Given the description of an element on the screen output the (x, y) to click on. 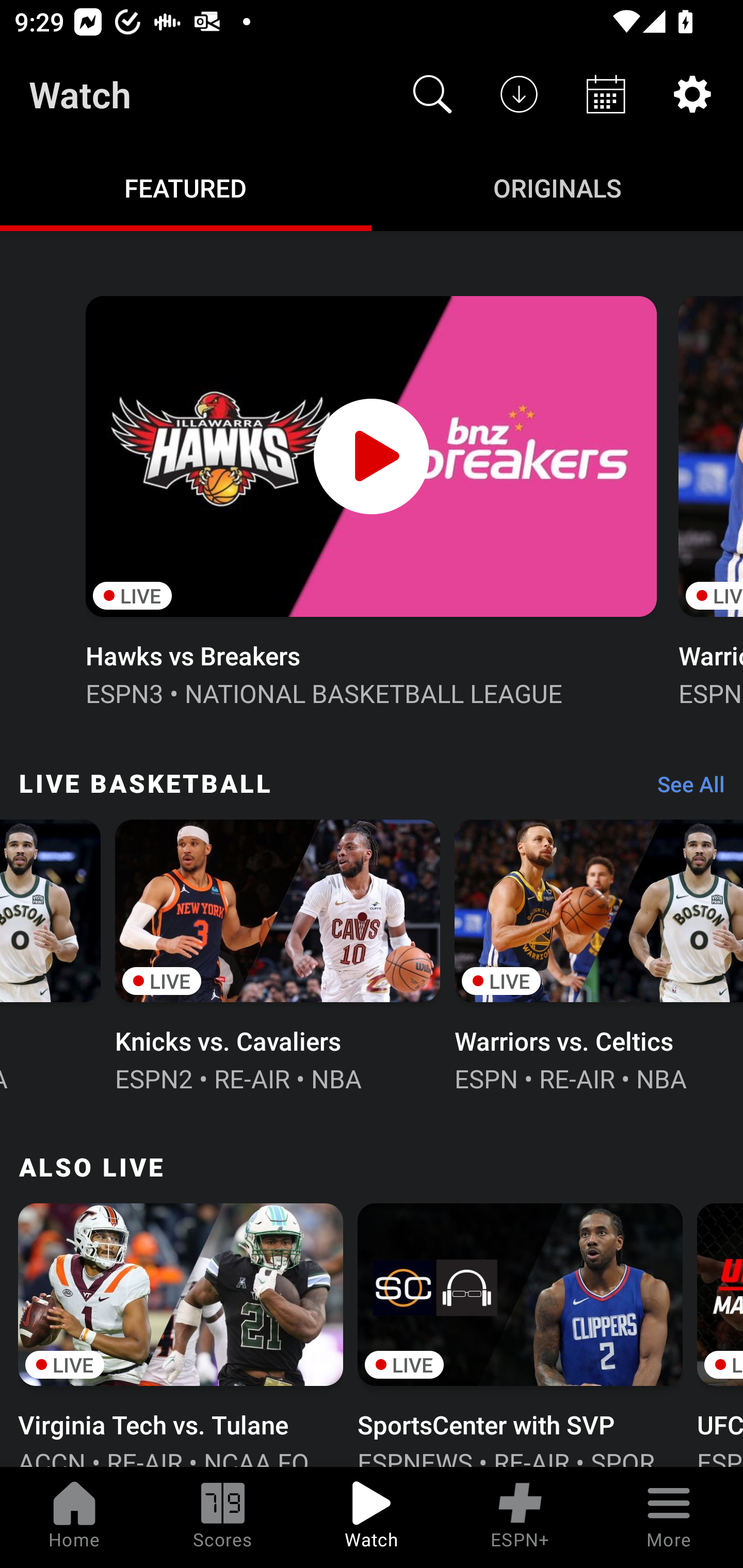
Search (432, 93)
Downloads (518, 93)
Schedule (605, 93)
Settings (692, 93)
Originals ORIGINALS (557, 187)
See All (683, 788)
LIVE Knicks vs. Cavaliers ESPN2 • RE-AIR • NBA (277, 954)
LIVE Warriors vs. Celtics ESPN • RE-AIR • NBA (598, 954)
Home (74, 1517)
Scores (222, 1517)
ESPN+ (519, 1517)
More (668, 1517)
